Given the description of an element on the screen output the (x, y) to click on. 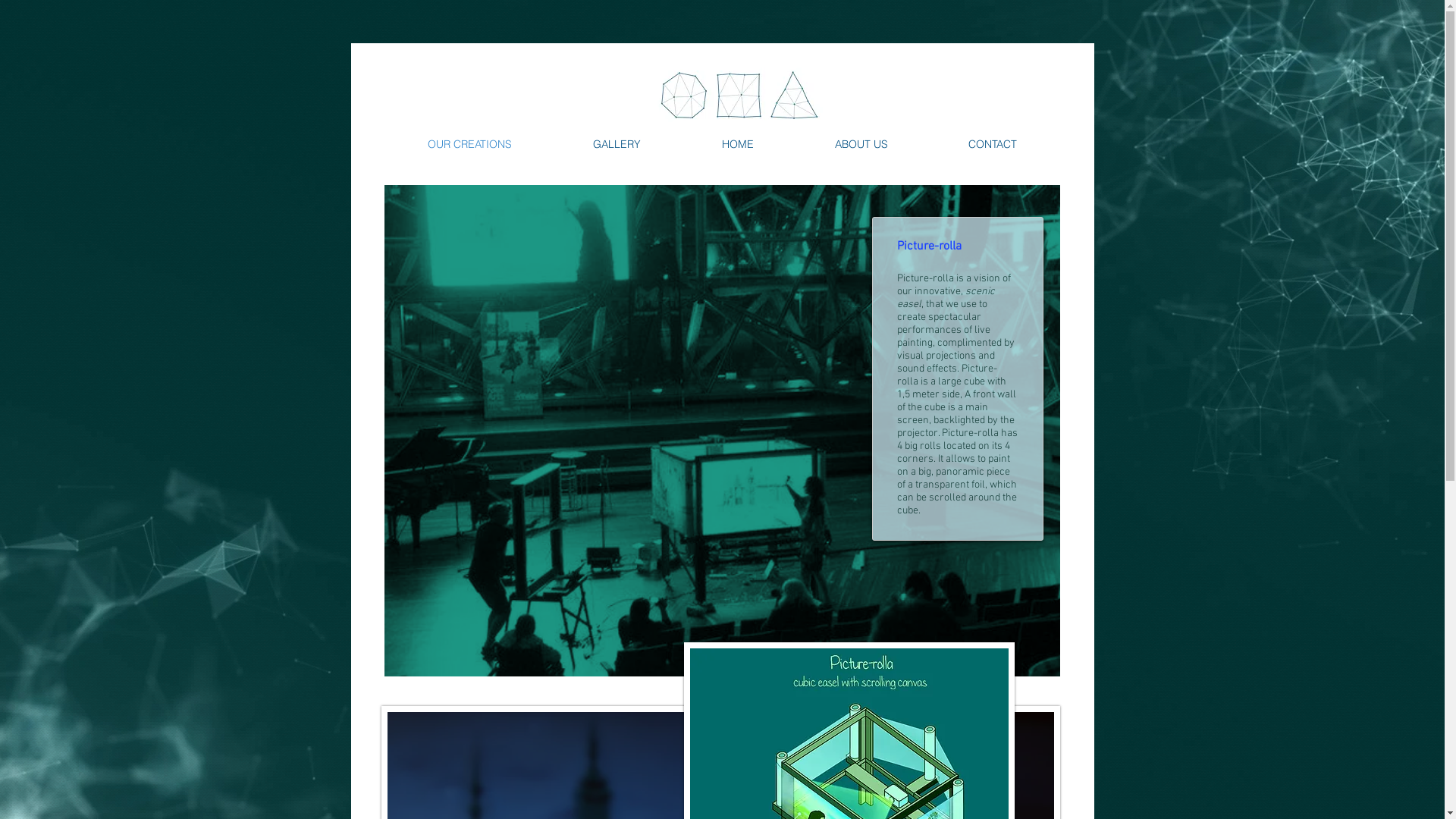
GALLERY Element type: text (616, 143)
HOME Element type: text (736, 143)
ABOUT US Element type: text (861, 143)
CONTACT Element type: text (992, 143)
OUR CREATIONS Element type: text (469, 143)
